Given the description of an element on the screen output the (x, y) to click on. 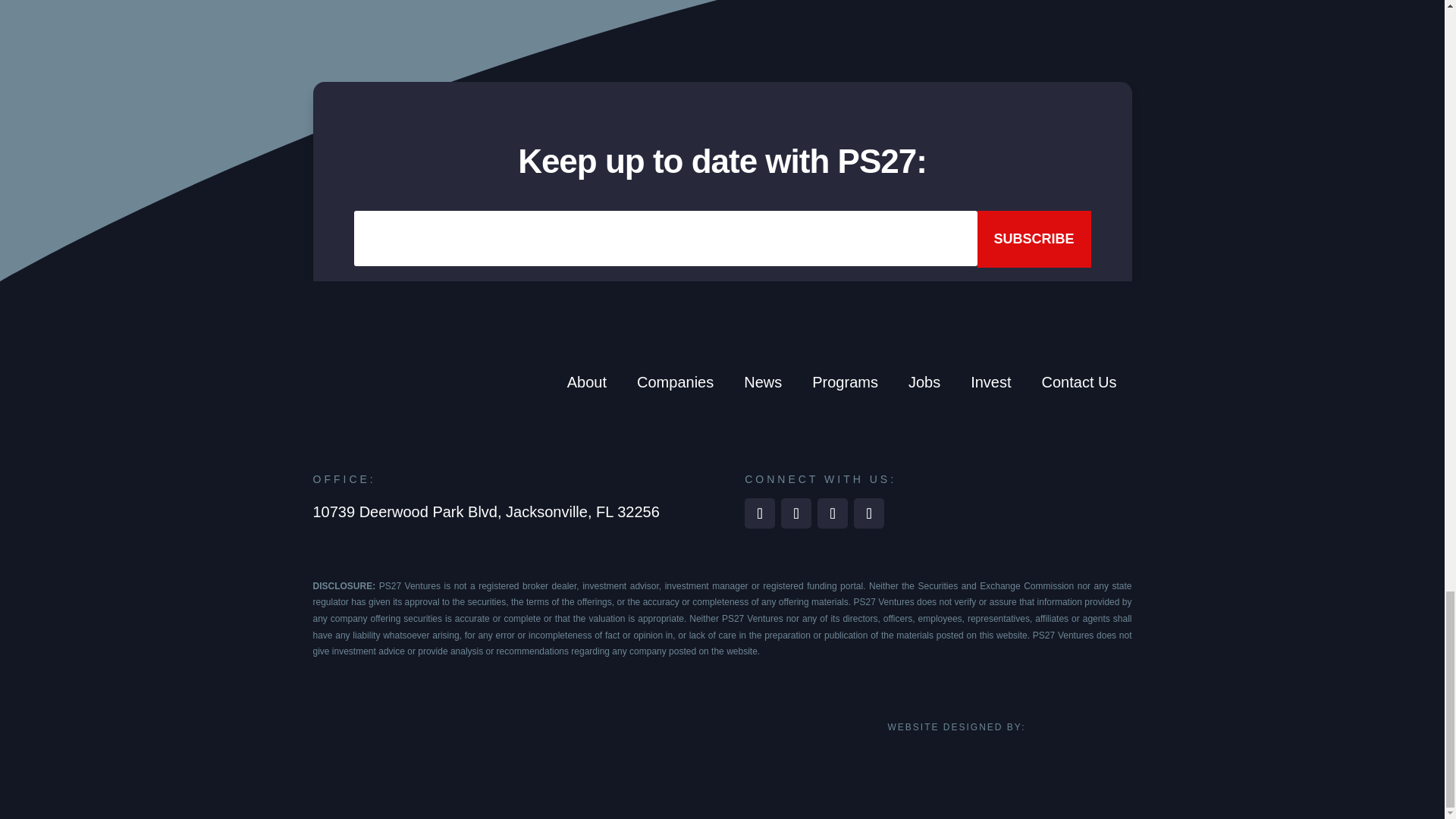
Follow on TikTok (795, 512)
SUBSCRIBE (1033, 238)
Follow on Instagram (831, 512)
Follow on X (868, 512)
Follow on LinkedIn (759, 512)
